Given the description of an element on the screen output the (x, y) to click on. 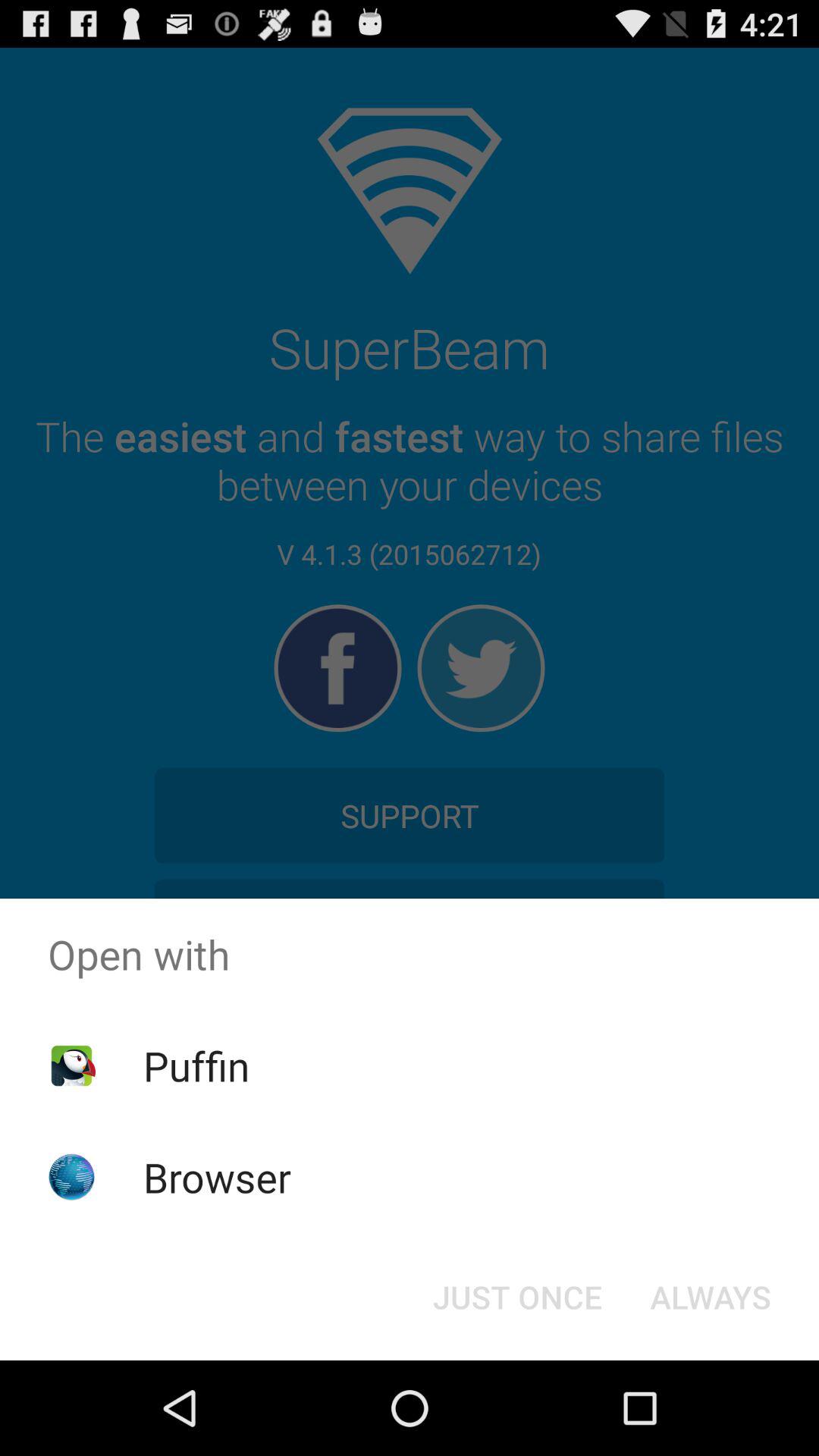
tap the just once at the bottom (517, 1296)
